Given the description of an element on the screen output the (x, y) to click on. 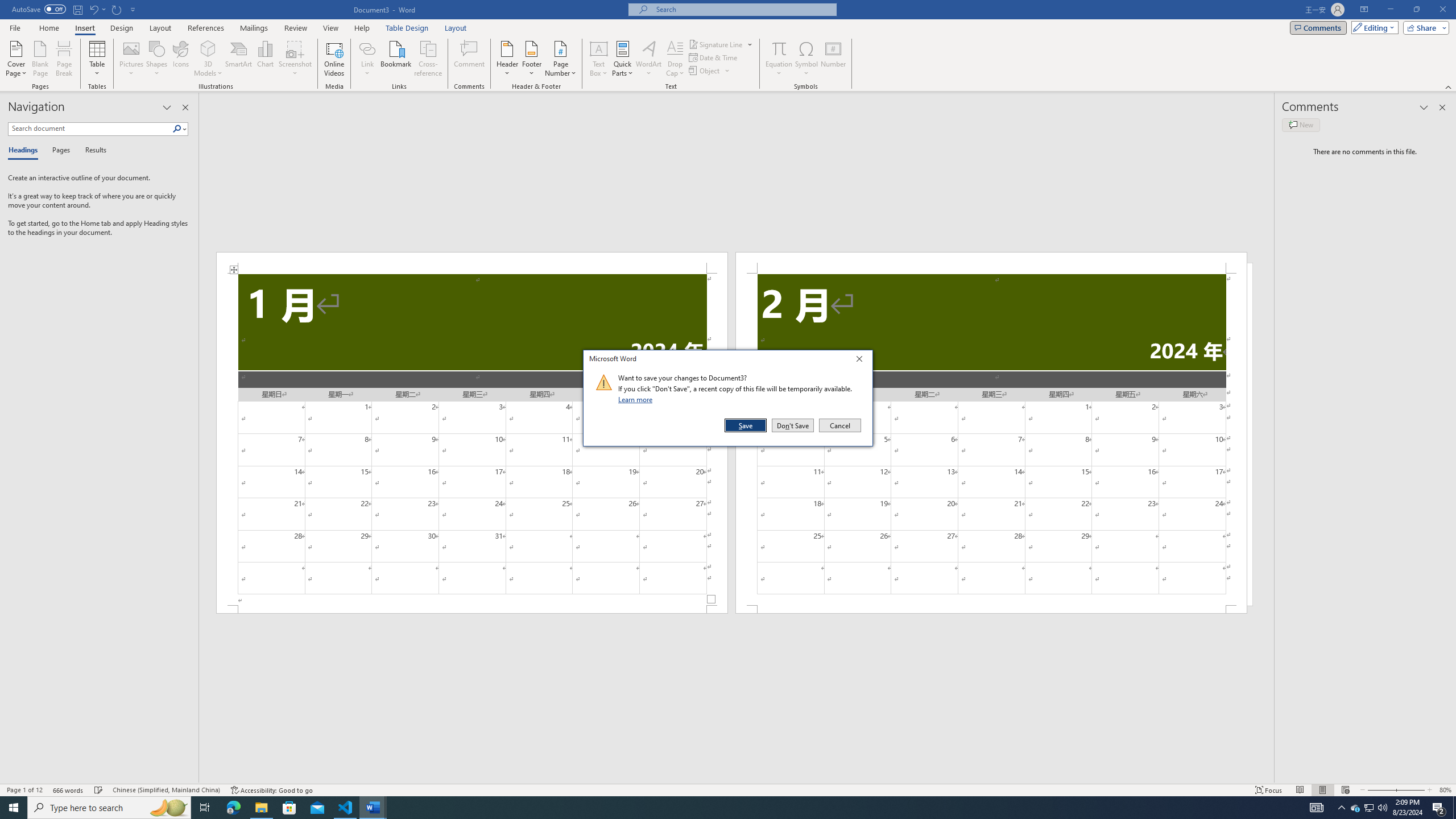
Header -Section 2- (991, 263)
Search (179, 128)
Class: MsoCommandBar (728, 789)
Microsoft Store (289, 807)
Signature Line (716, 44)
Comments (1318, 27)
Read Mode (1299, 790)
Task Pane Options (167, 107)
Footer (531, 58)
Link (367, 58)
Header -Section 1- (471, 263)
Learn more (636, 399)
Save (1355, 807)
